Given the description of an element on the screen output the (x, y) to click on. 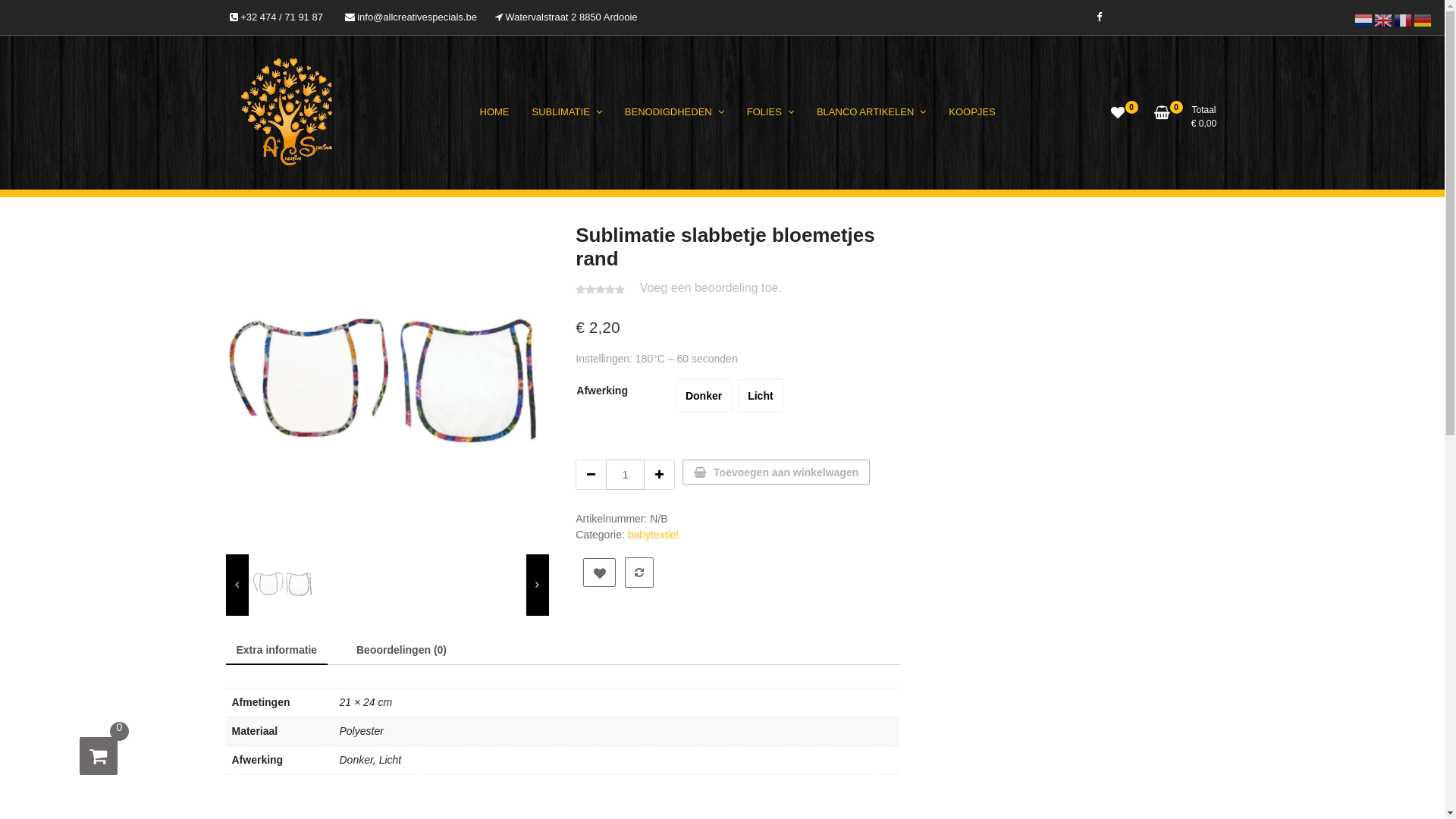
BLANCO ARTIKELEN Element type: text (871, 112)
SUBLIMATIE Element type: text (566, 112)
Beoordelingen (0) Element type: text (401, 650)
0 Element type: text (98, 756)
Extra informatie Element type: text (276, 650)
Deutsch Element type: hover (1423, 19)
Voeg een beoordeling toe. Element type: text (710, 287)
+32 474 / 71 91 87 Element type: text (275, 17)
info@allcreativespecials.be Element type: text (410, 17)
Toevoegen aan winkelwagen Element type: text (775, 471)
babytextiel Element type: text (652, 534)
Nederlands Element type: hover (1364, 19)
slabbetje met bloemen rand Element type: hover (387, 384)
HOME Element type: text (494, 112)
slabbetje met bloemen rand Element type: hover (282, 585)
All Creative specials Element type: text (351, 183)
KOOPJES Element type: text (971, 112)
BENODIGDHEDEN Element type: text (674, 112)
FOLIES Element type: text (770, 112)
English Element type: hover (1383, 19)
0 Element type: text (1117, 118)
